Given the description of an element on the screen output the (x, y) to click on. 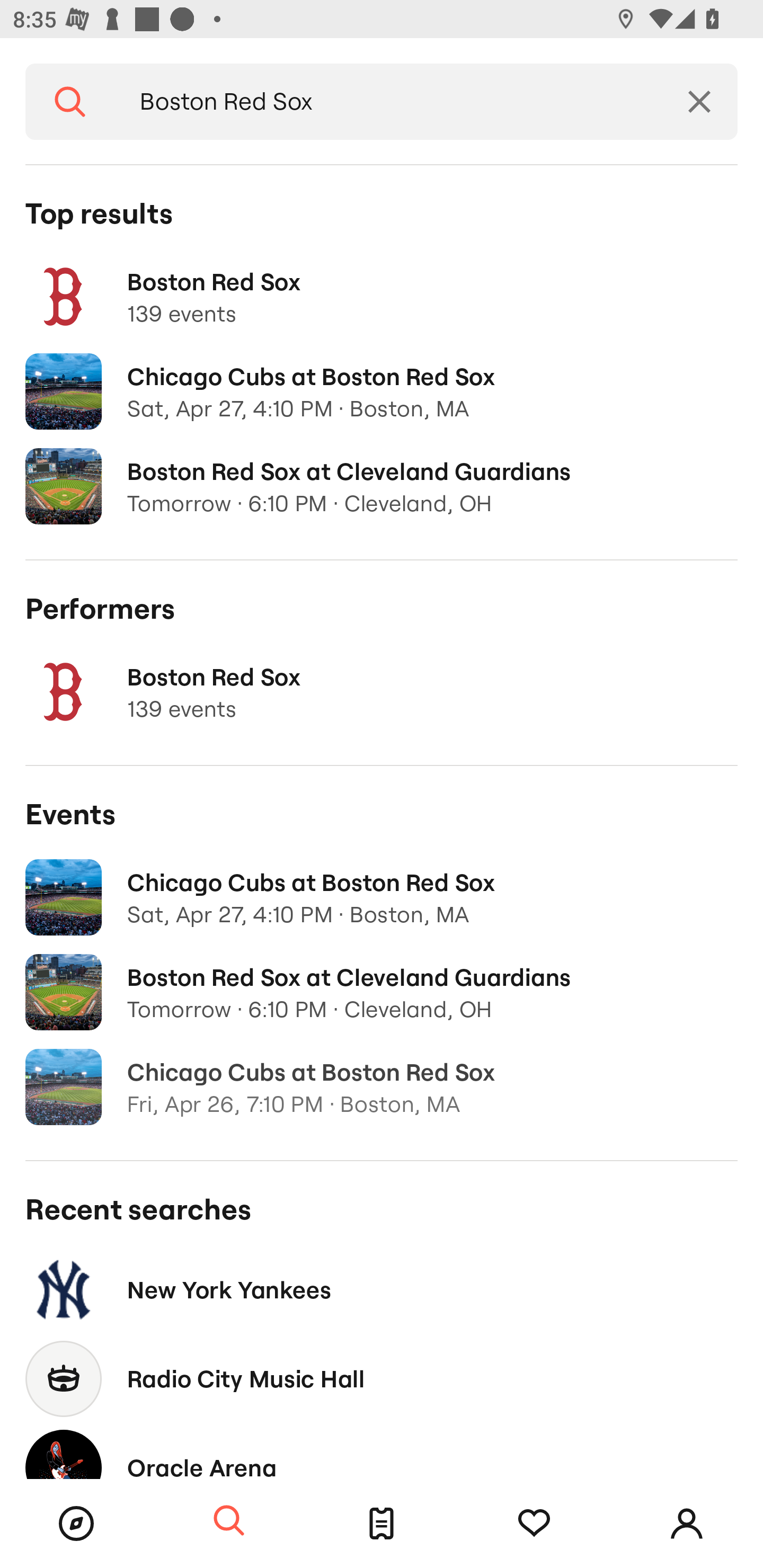
Search (69, 101)
Boston Red Sox (387, 101)
Clear (699, 101)
Boston Red Sox 139 events (381, 296)
Boston Red Sox 139 events (381, 692)
New York Yankees (381, 1289)
Radio City Music Hall (381, 1378)
Oracle Arena (381, 1450)
Browse (76, 1523)
Search (228, 1521)
Tickets (381, 1523)
Tracking (533, 1523)
Account (686, 1523)
